Given the description of an element on the screen output the (x, y) to click on. 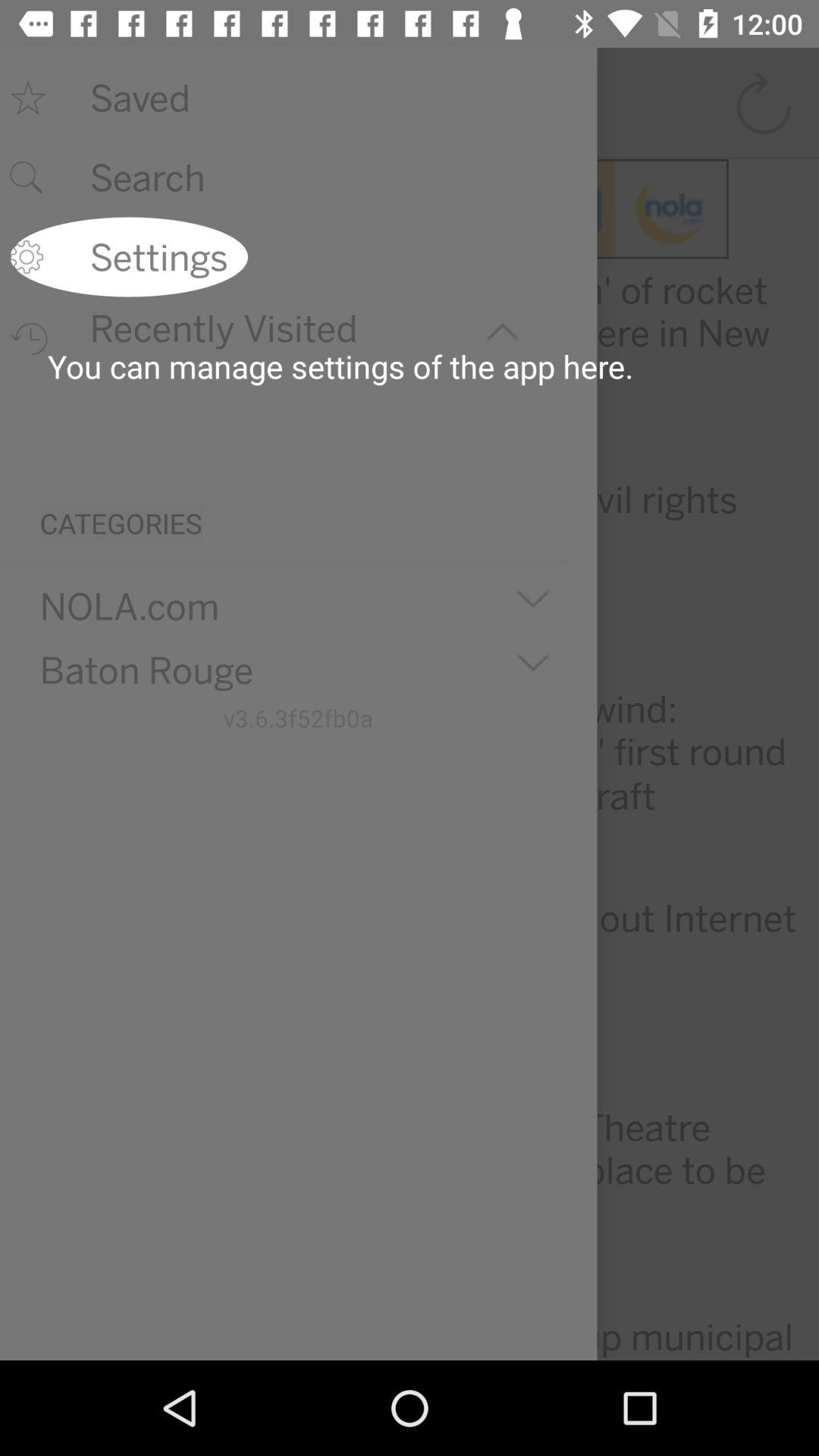
select saved (328, 98)
